Given the description of an element on the screen output the (x, y) to click on. 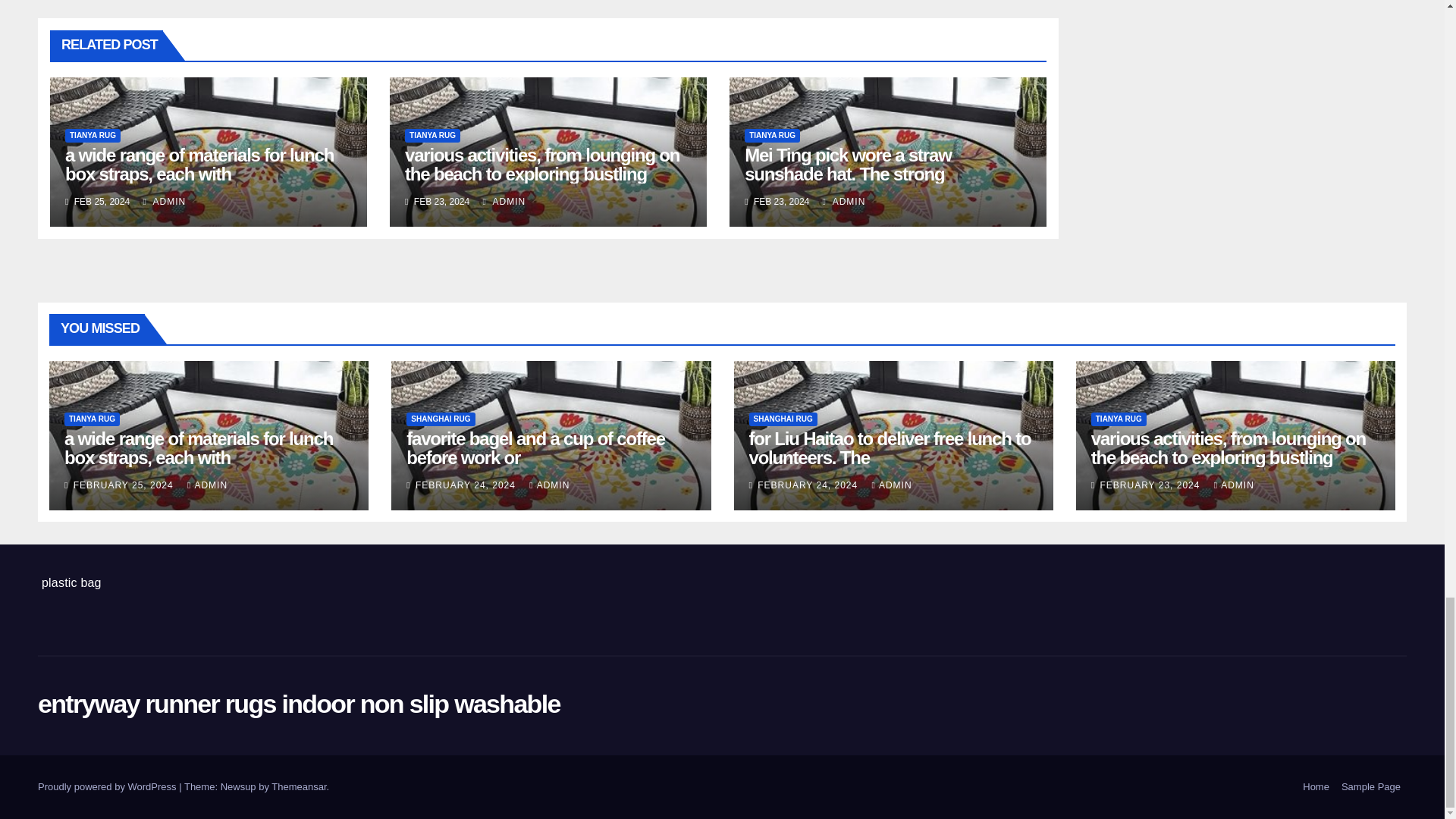
Mei Ting pick wore a straw sunshade hat. The strong (847, 164)
ADMIN (504, 201)
Home (1316, 786)
TIANYA RUG (771, 135)
a wide range of materials for lunch box straps, each with (199, 164)
ADMIN (164, 201)
TIANYA RUG (432, 135)
